Given the description of an element on the screen output the (x, y) to click on. 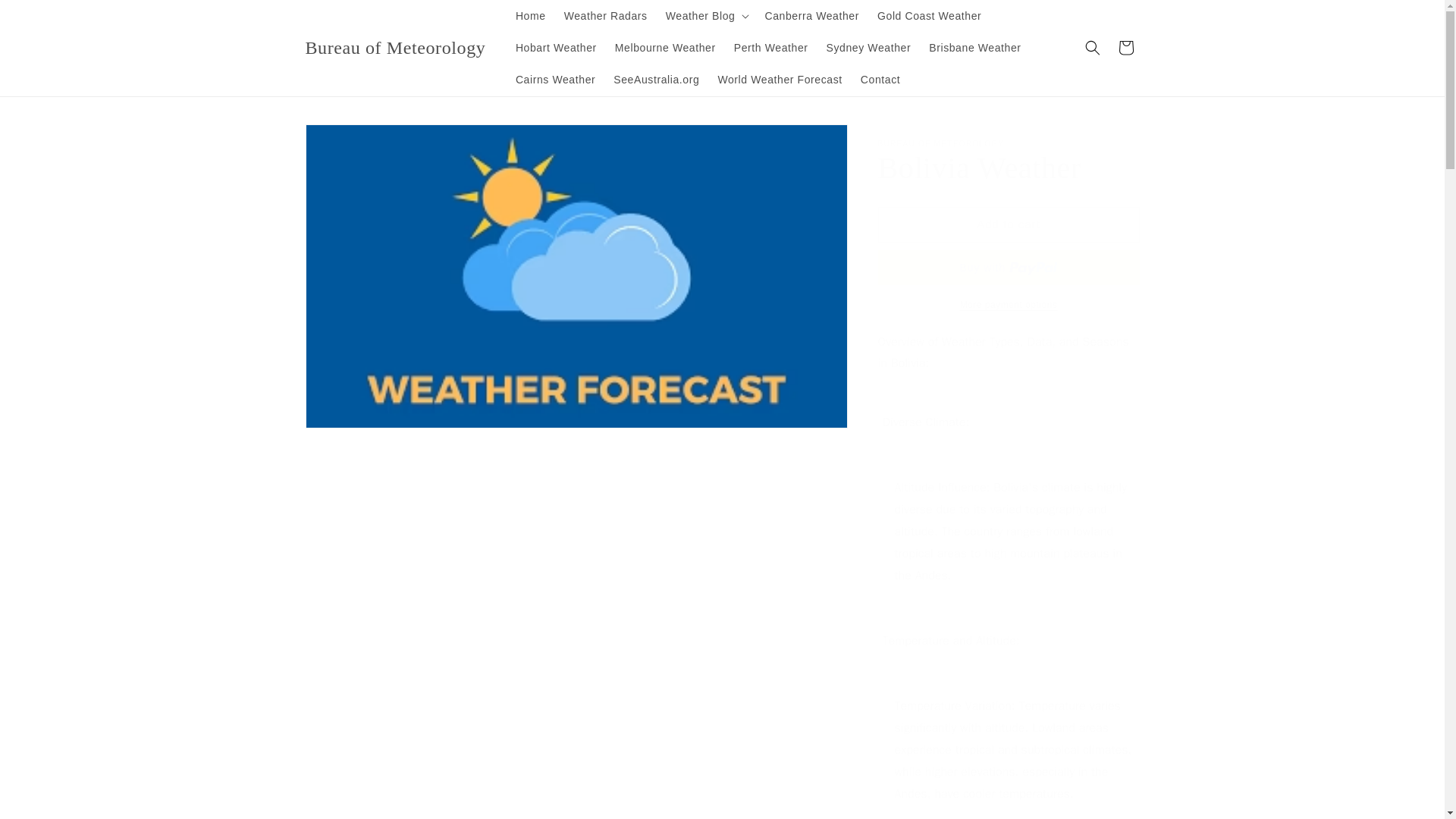
World Weather Forecast (778, 79)
Bureau of Meteorology (395, 48)
Home (530, 15)
SeeAustralia.org (655, 79)
Sydney Weather (868, 47)
Gold Coast Weather (928, 15)
Canberra Weather (811, 15)
Contact (879, 79)
Melbourne Weather (665, 47)
Skip to content (45, 17)
